Given the description of an element on the screen output the (x, y) to click on. 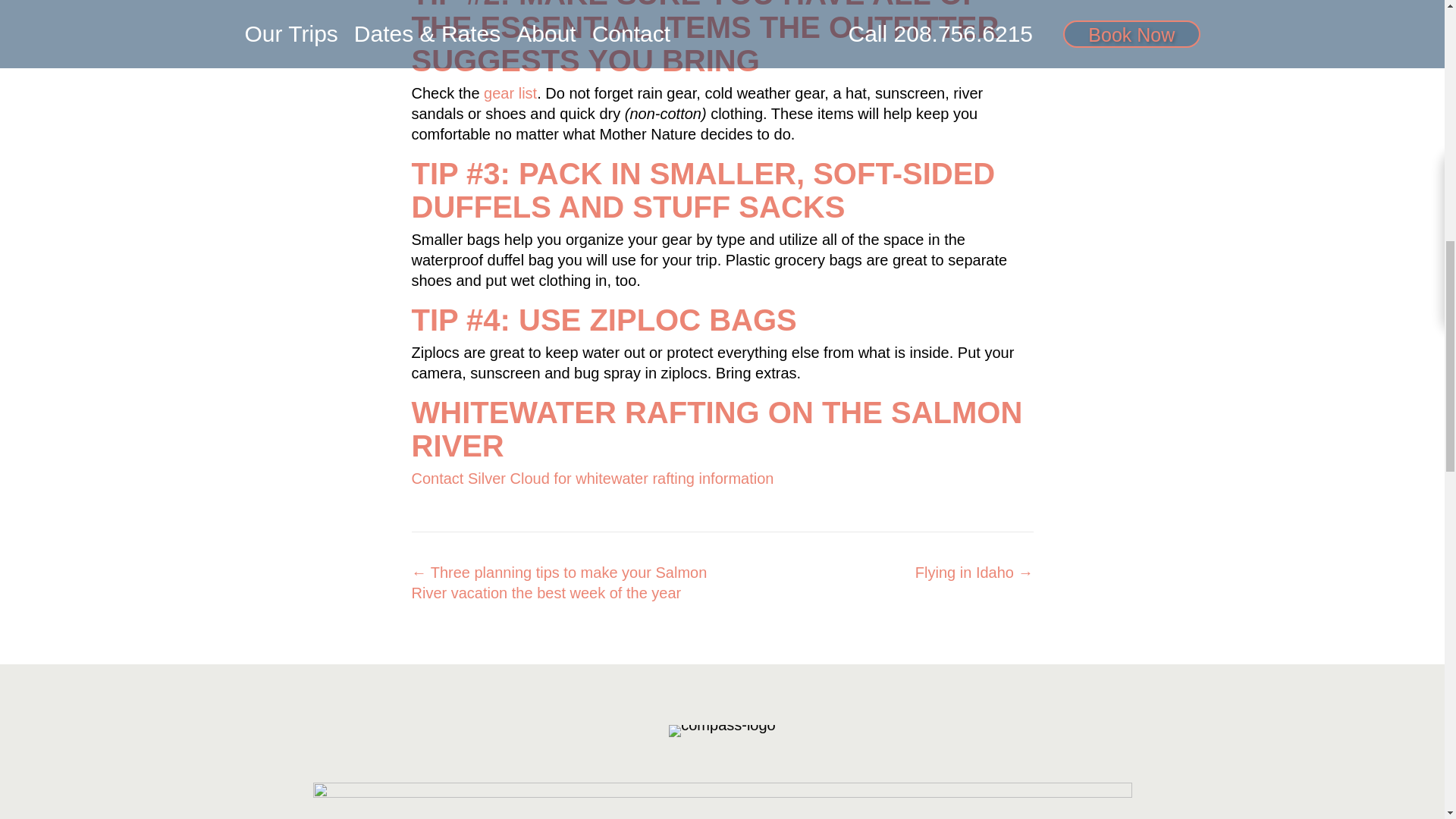
link to gear list (510, 93)
video-poster (722, 800)
compass-logo (722, 730)
gear list (510, 93)
Contact Silver Cloud for whitewater rafting information (591, 478)
